Given the description of an element on the screen output the (x, y) to click on. 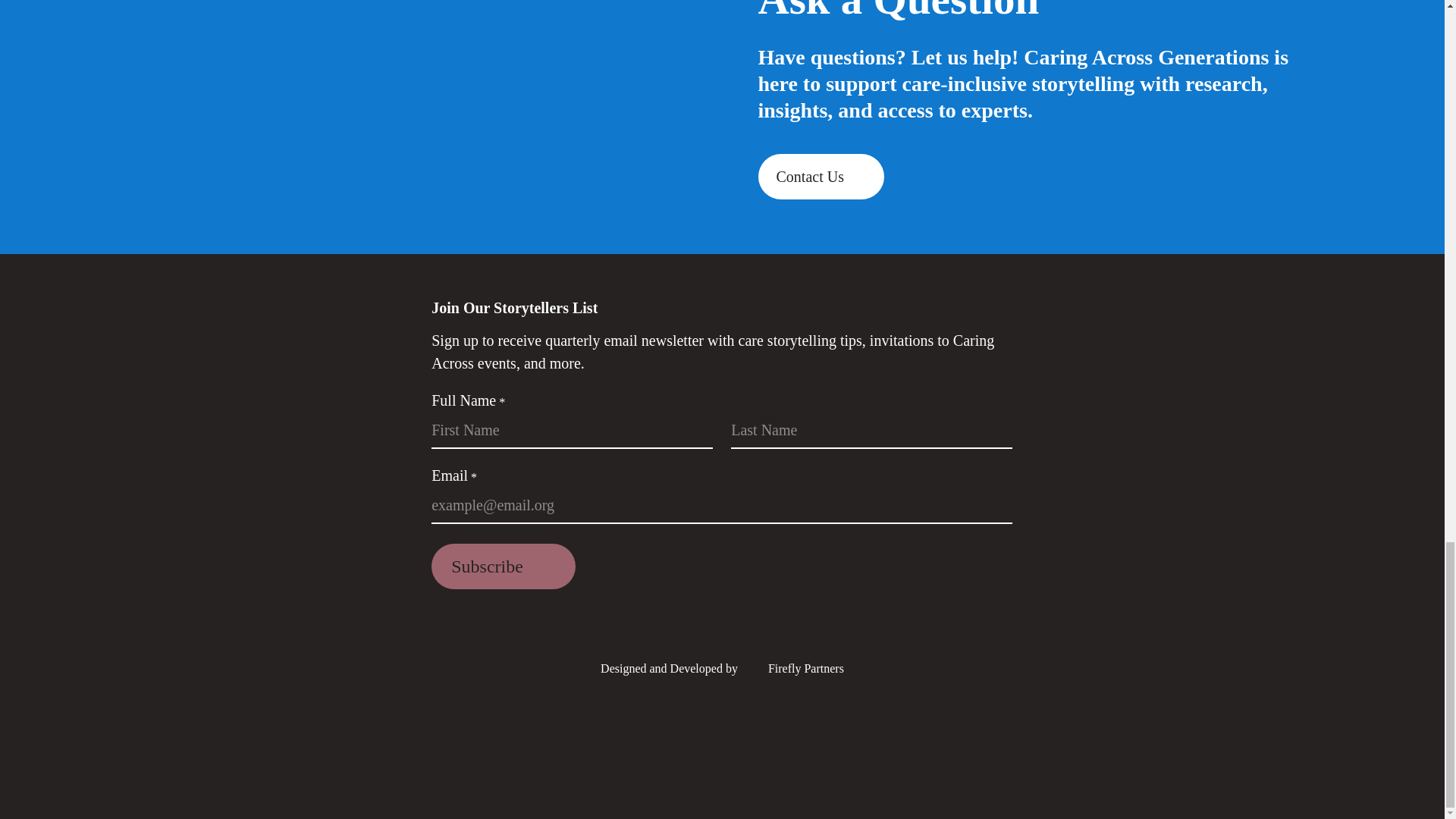
Subscribe (502, 565)
Subscribe (502, 565)
Firefly Partners (792, 667)
Contact Us (820, 176)
